Given the description of an element on the screen output the (x, y) to click on. 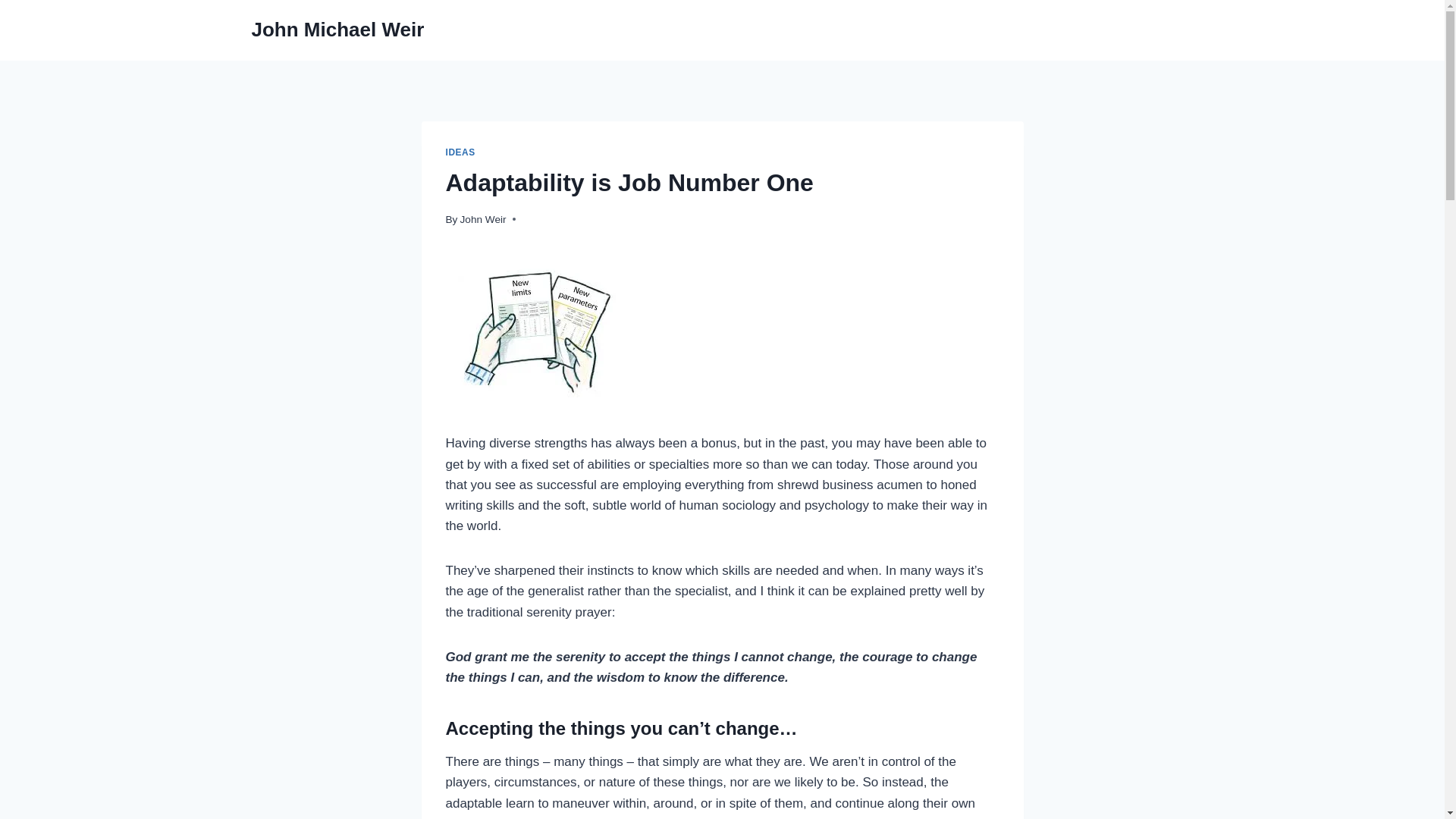
IDEAS (460, 152)
John Michael Weir (338, 29)
adaptability (537, 329)
John Weir (483, 219)
